Given the description of an element on the screen output the (x, y) to click on. 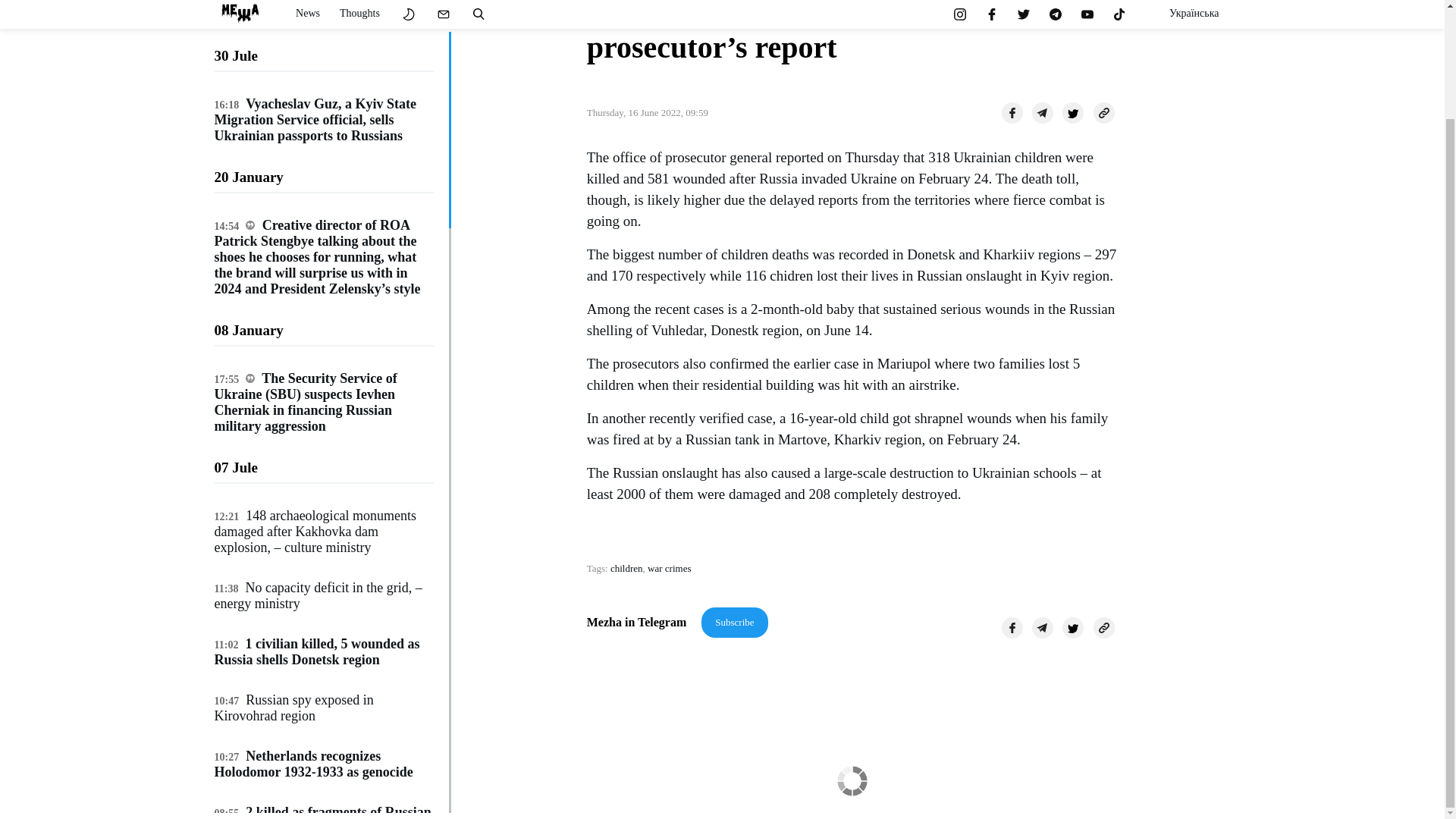
1 civilian killed, 5 wounded as Russia shells Donetsk region (316, 522)
Overnight drone attack (308, 739)
Copy link (1104, 112)
Telegram (1042, 627)
Facebook (1012, 112)
Telegram (1042, 112)
Russian spy exposed in Kirovohrad region (293, 579)
Copy link (1104, 627)
Facebook (1012, 627)
Netherlands recognizes Holodomor 1932-1933 as genocide (313, 635)
